Given the description of an element on the screen output the (x, y) to click on. 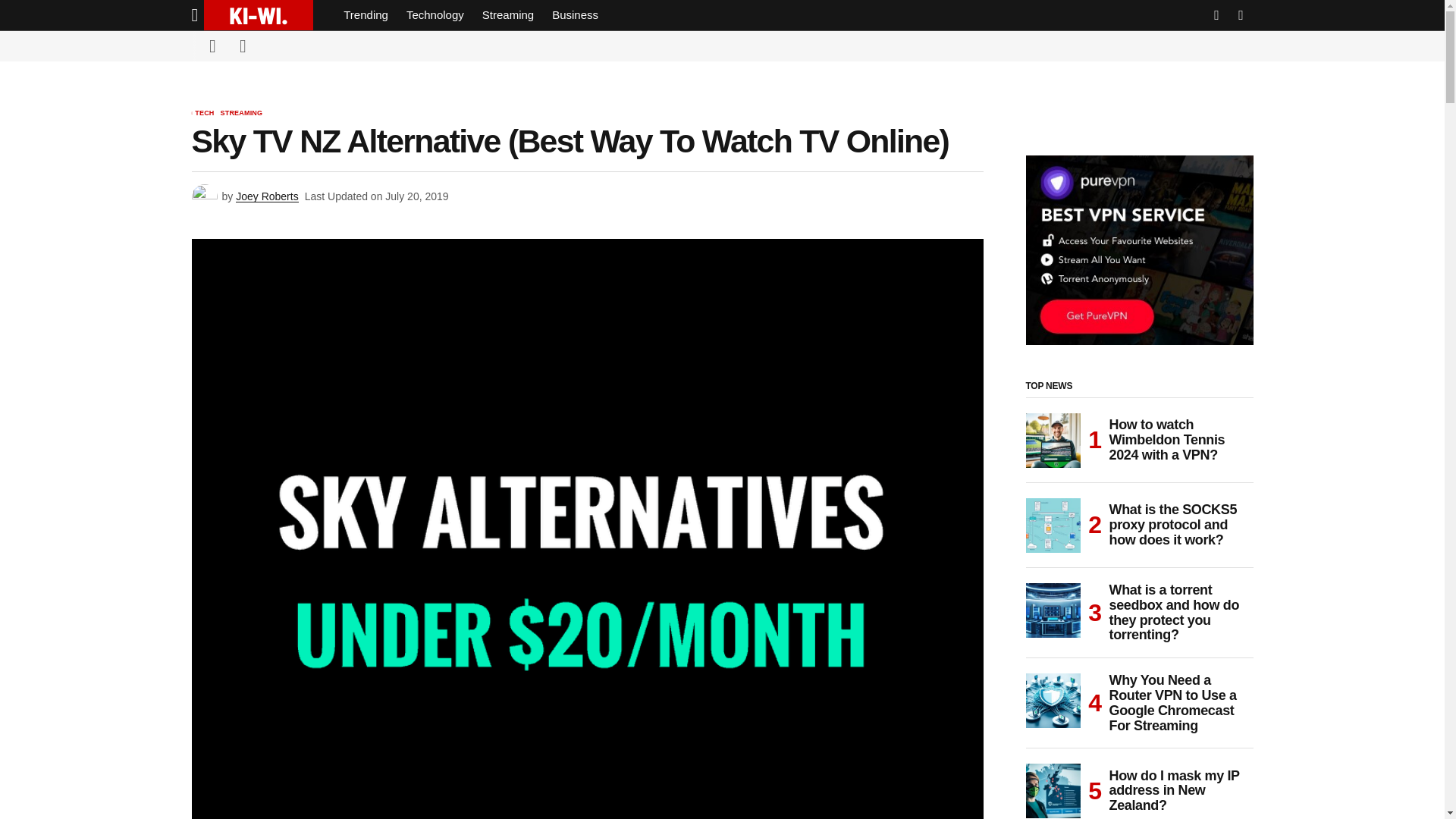
Business (575, 15)
Streaming (508, 15)
Technology (435, 15)
Trending (365, 15)
